Given the description of an element on the screen output the (x, y) to click on. 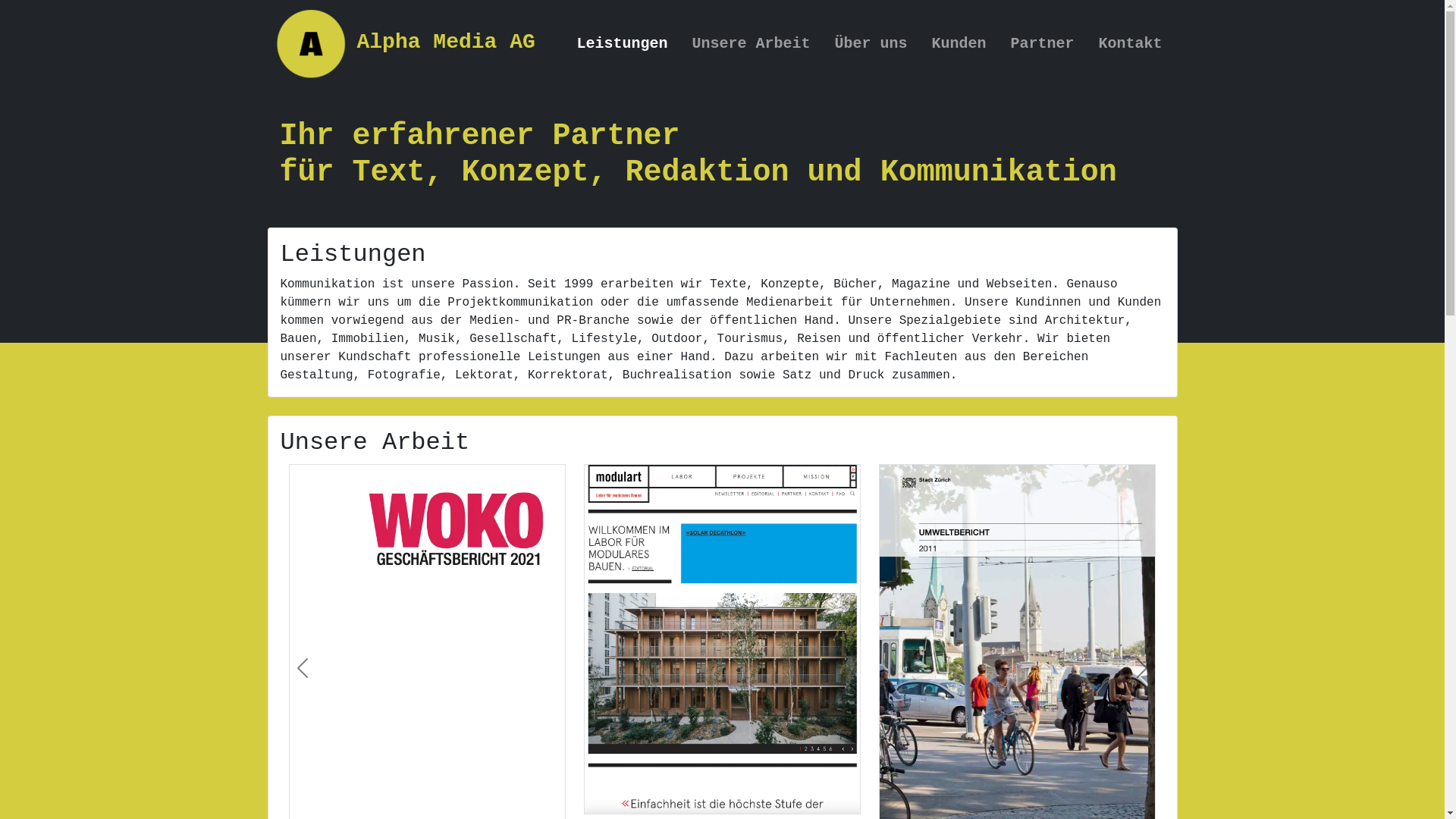
Alpha Media AG Element type: text (405, 43)
Partner Element type: text (1041, 43)
Unsere Arbeit Element type: text (750, 43)
Kunden Element type: text (958, 43)
Leistungen Element type: text (621, 43)
Kontakt Element type: text (1129, 43)
